Given the description of an element on the screen output the (x, y) to click on. 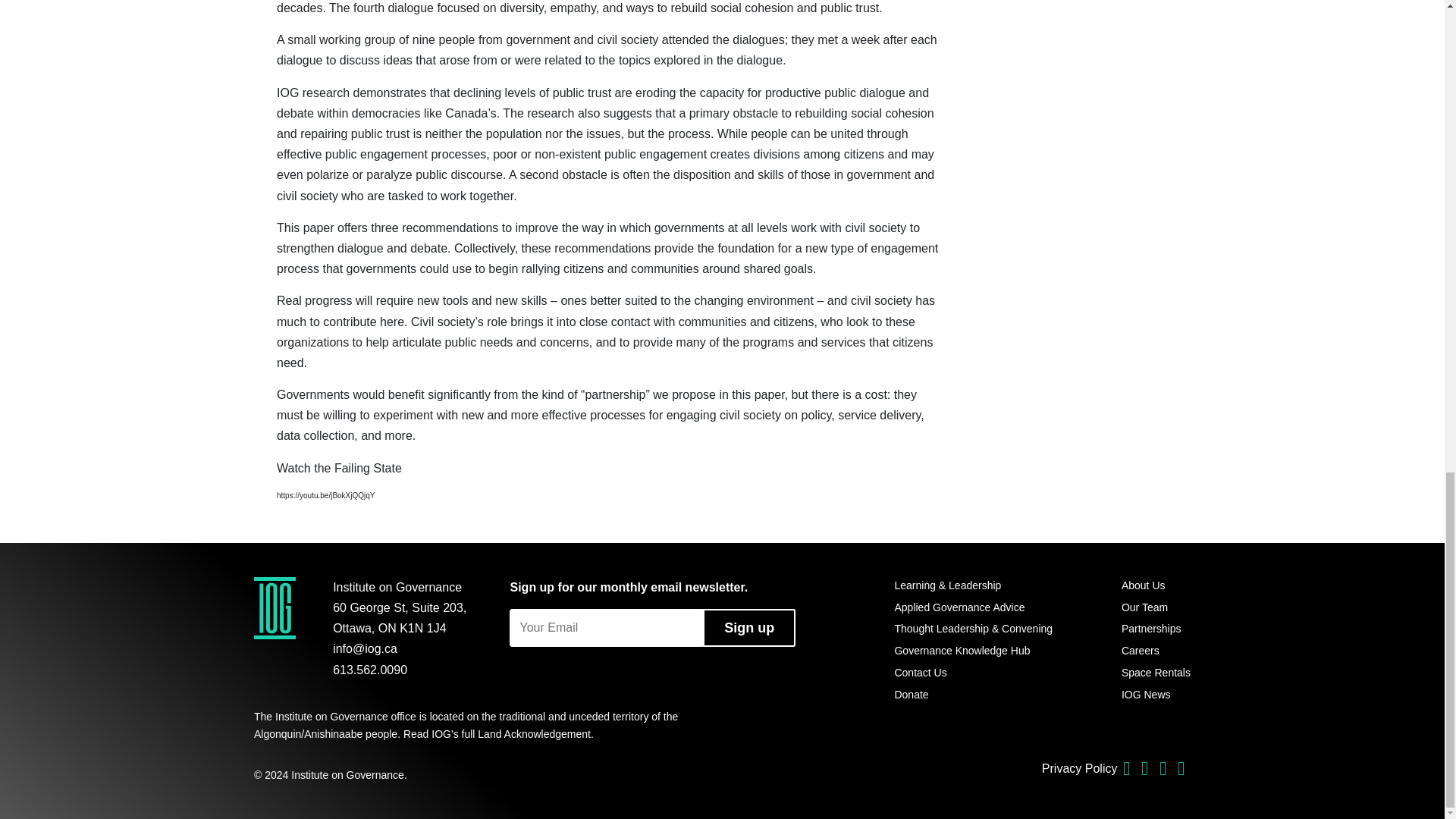
Sign up (748, 628)
Sign up (748, 628)
Applied Governance Advice (972, 607)
613.562.0090 (370, 669)
